Given the description of an element on the screen output the (x, y) to click on. 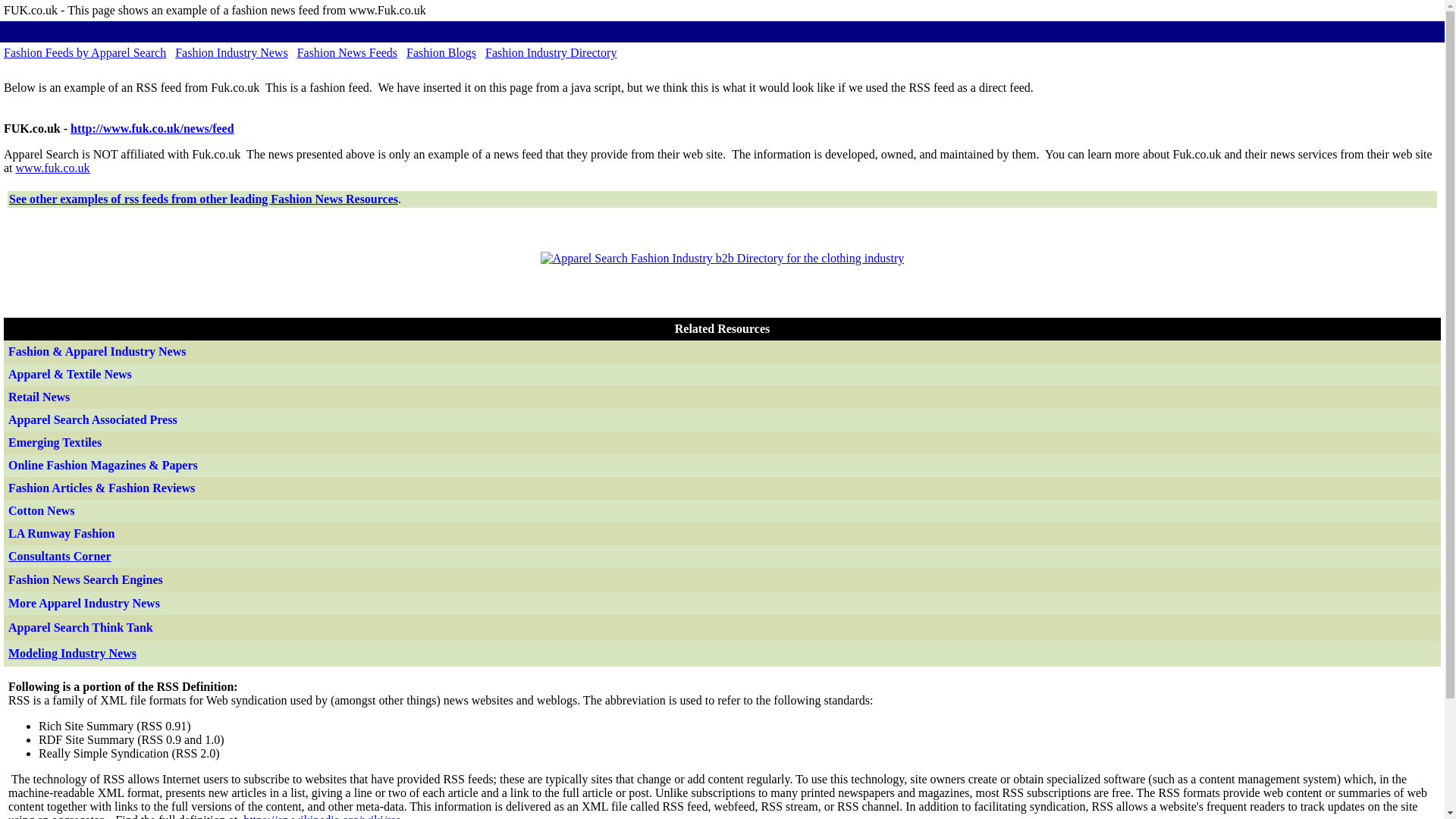
Consultants Corner (60, 555)
Retail News (38, 396)
Cotton News (41, 510)
Emerging Textiles (54, 441)
www.fuk.co.uk (53, 167)
Fashion News Feeds (347, 51)
Apparel Search Associated Press  (94, 419)
Fashion Industry Directory (549, 51)
Fashion News Search Engines (85, 579)
